Given the description of an element on the screen output the (x, y) to click on. 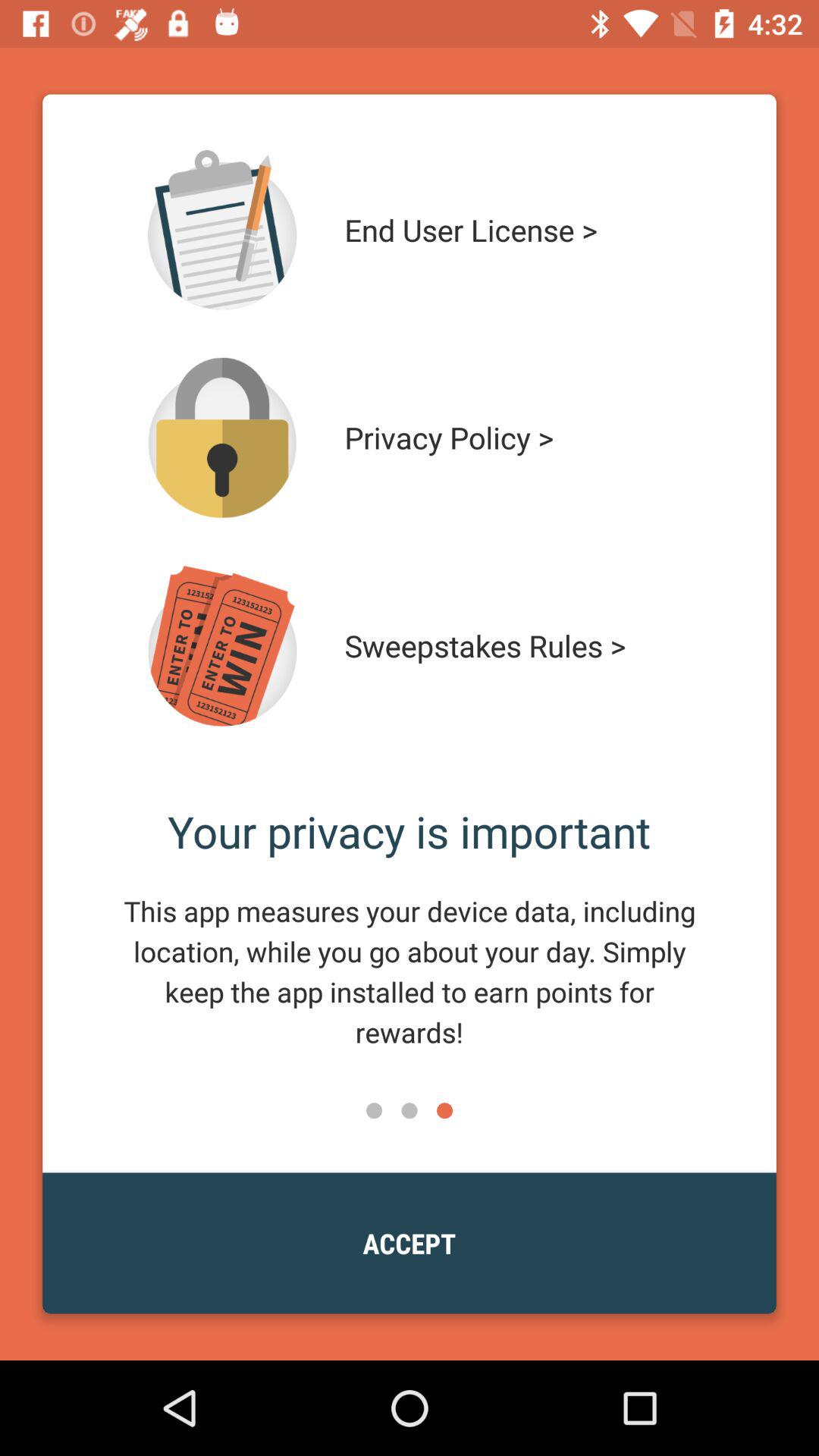
open privacy policy (222, 437)
